Given the description of an element on the screen output the (x, y) to click on. 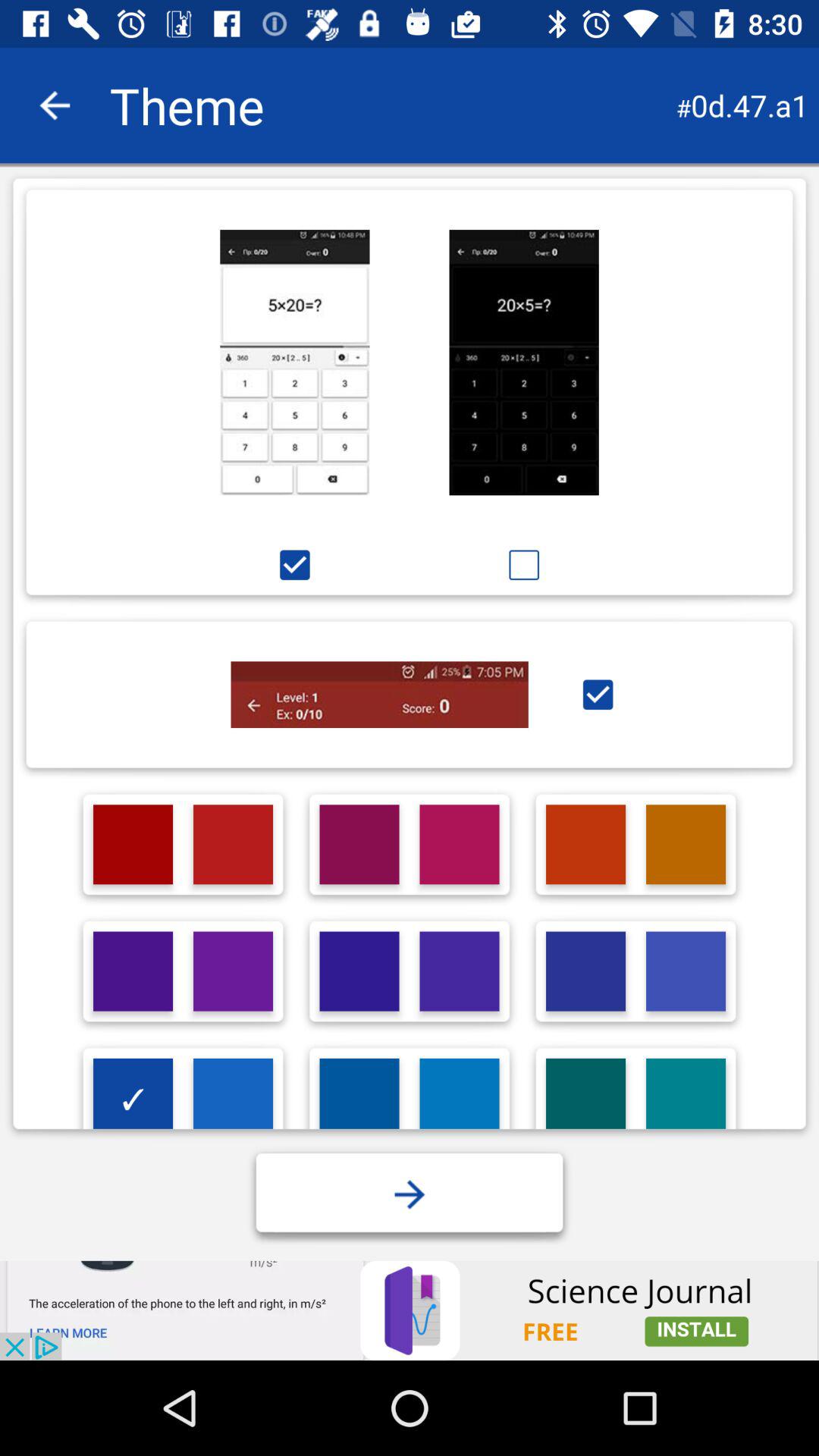
colors (585, 1098)
